Given the description of an element on the screen output the (x, y) to click on. 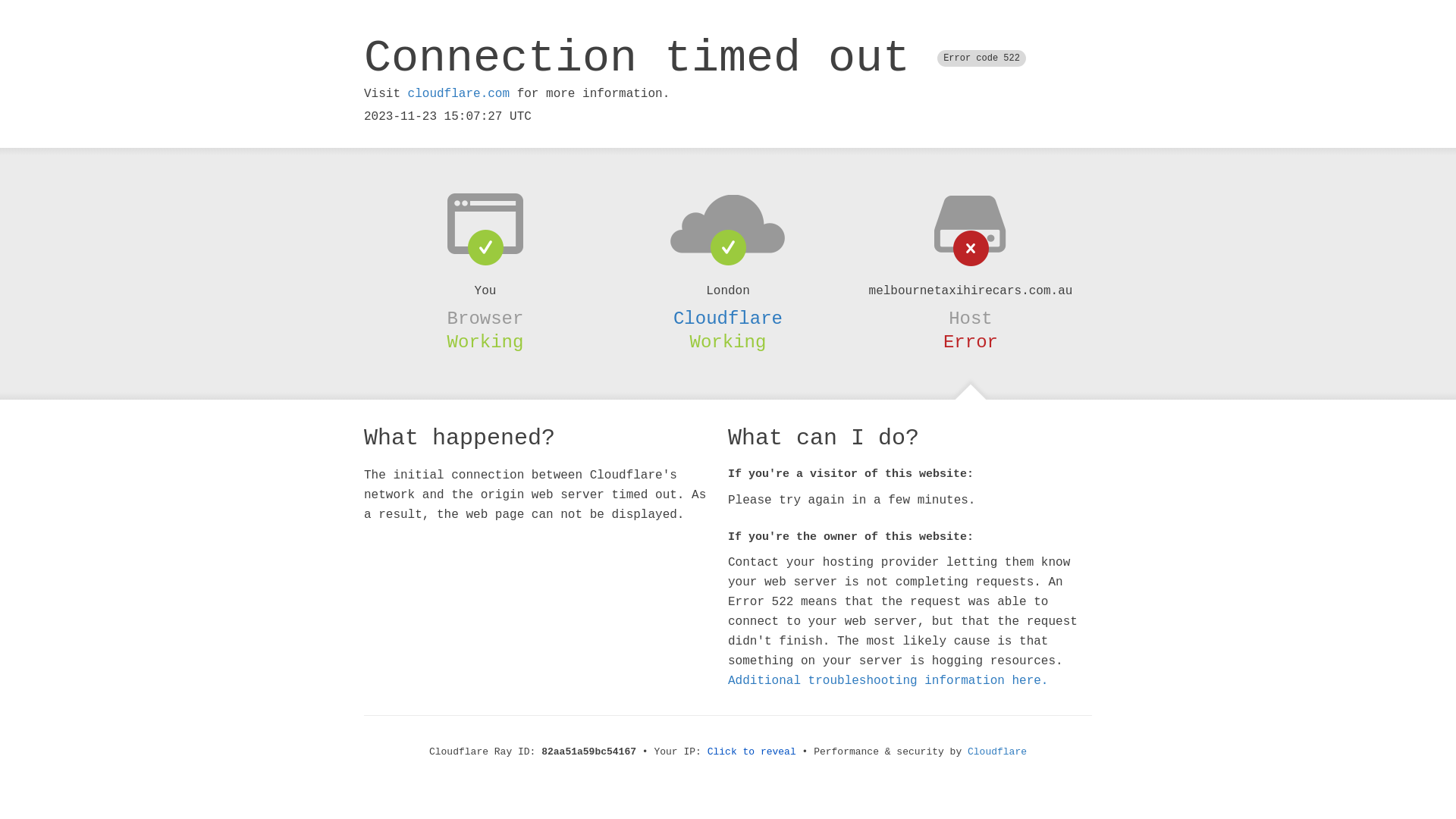
Click to reveal Element type: text (751, 751)
Cloudflare Element type: text (996, 751)
cloudflare.com Element type: text (458, 93)
Additional troubleshooting information here. Element type: text (888, 680)
Cloudflare Element type: text (727, 318)
